Given the description of an element on the screen output the (x, y) to click on. 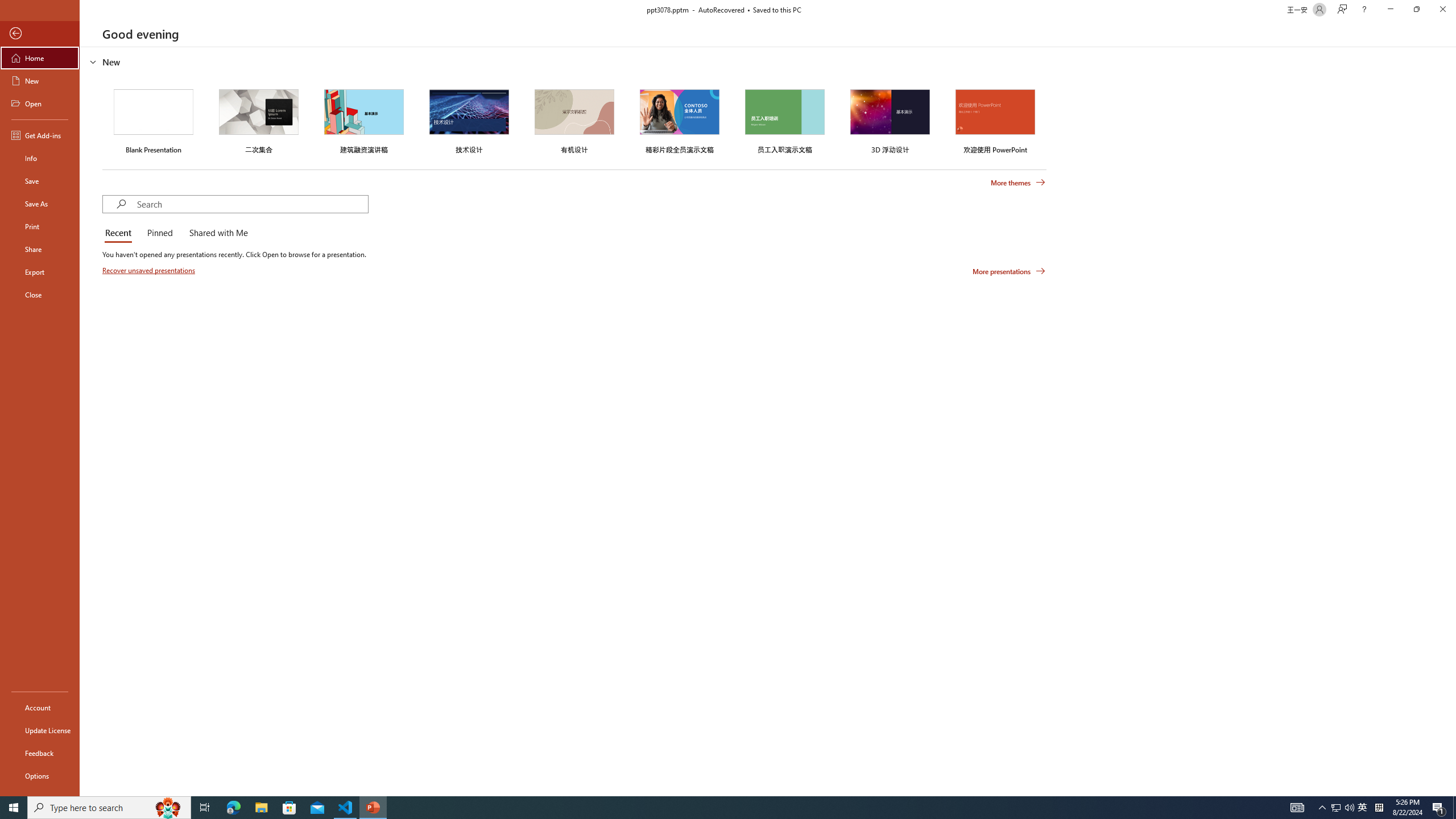
Blank Presentation (153, 119)
Save As (40, 203)
Hide or show region (92, 61)
Back (40, 33)
Export (40, 271)
Update License (40, 730)
